Given the description of an element on the screen output the (x, y) to click on. 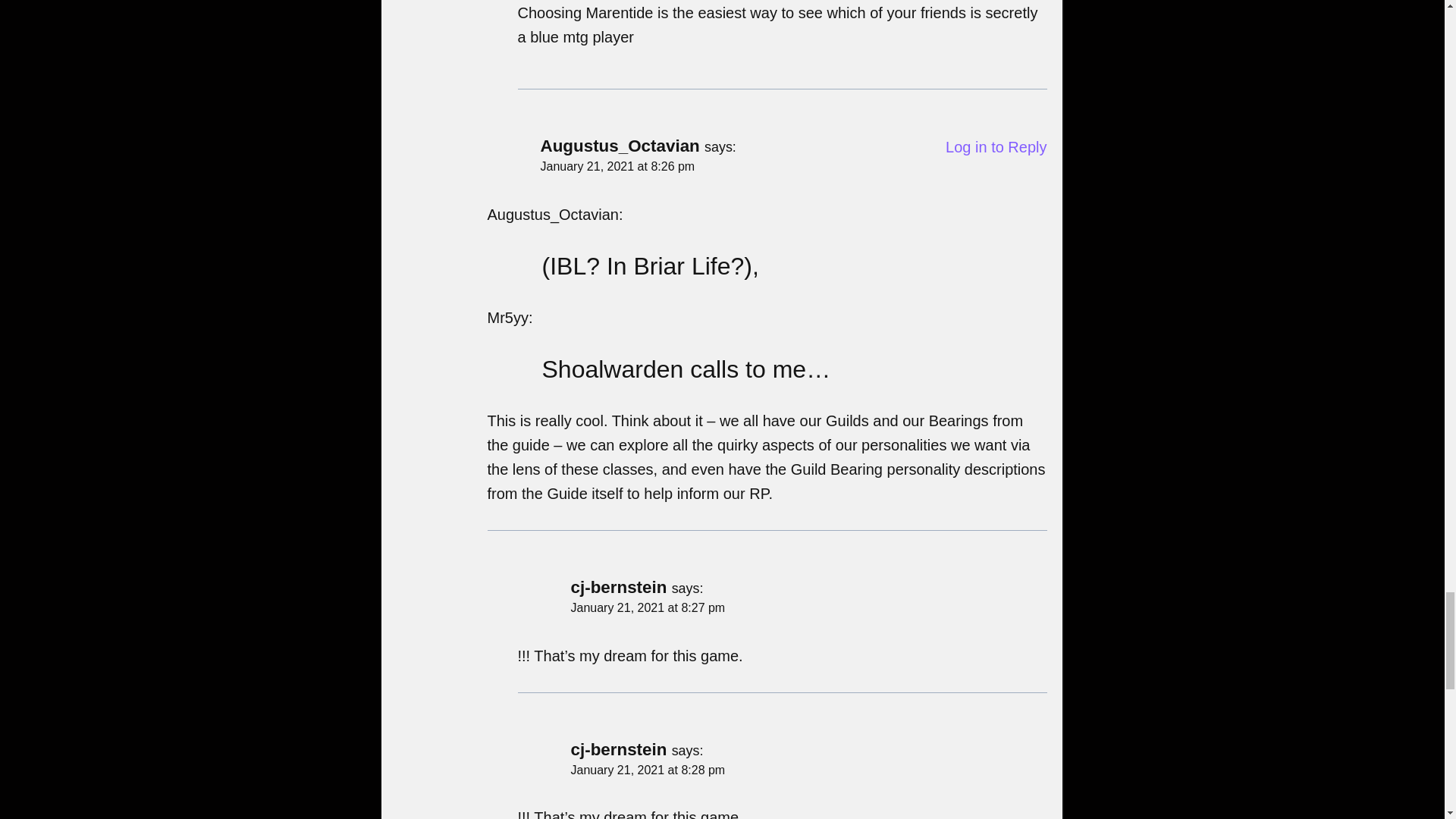
:joy: (524, 56)
